Given the description of an element on the screen output the (x, y) to click on. 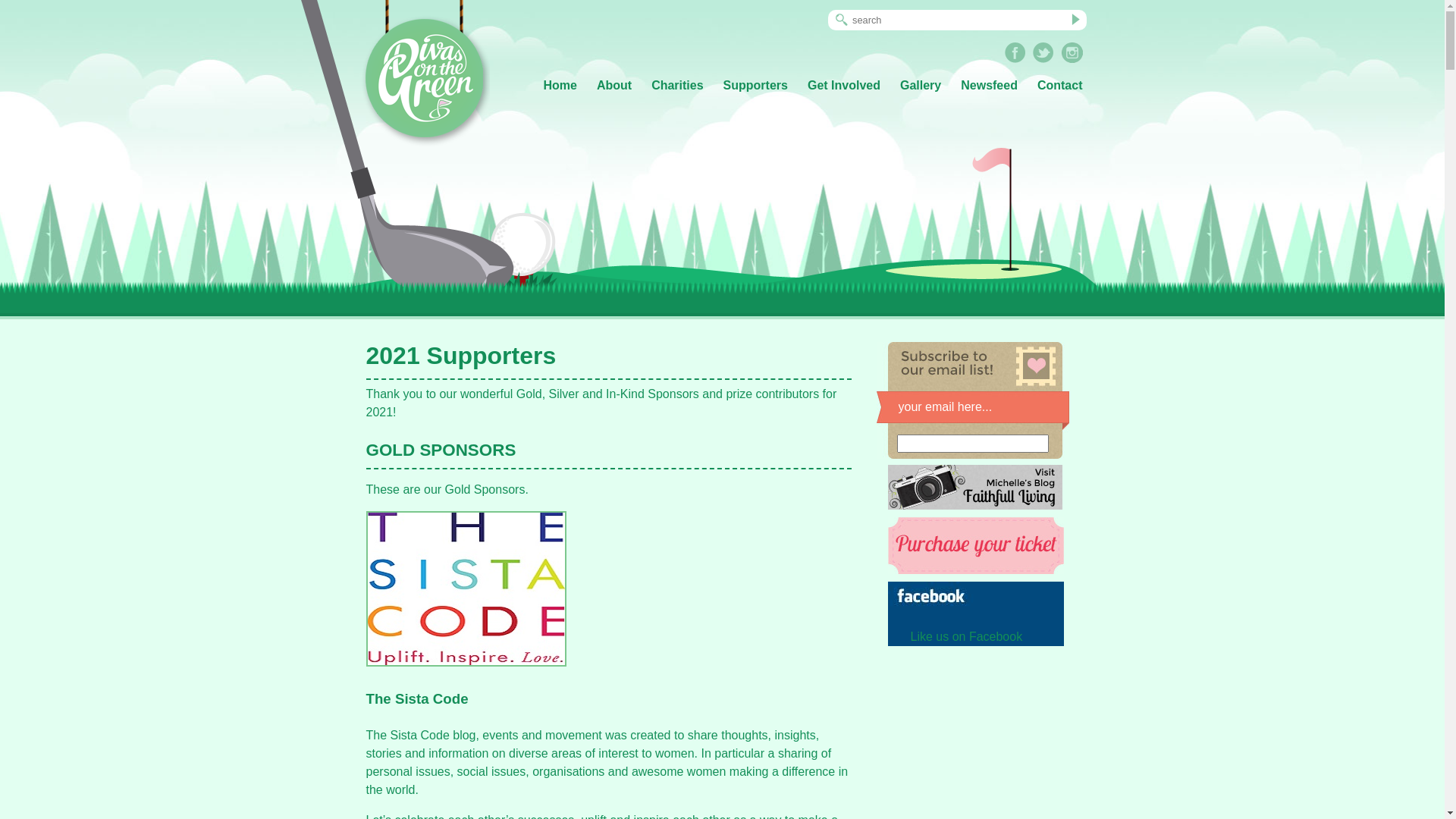
Home Element type: hover (423, 73)
Yes! Sign me up! Element type: text (972, 477)
Home Element type: text (559, 85)
Contact Element type: text (1059, 85)
Like us on Facebook Element type: text (966, 636)
Gallery Element type: text (920, 85)
Enter the terms you wish to search for. Element type: hover (956, 19)
The Sista Code Element type: text (416, 698)
About Element type: text (614, 85)
Jump to navigation Element type: text (722, 2)
Supporters Element type: text (755, 85)
Get Involved Element type: text (843, 85)
Newsfeed Element type: text (989, 85)
Charities Element type: text (676, 85)
